Given the description of an element on the screen output the (x, y) to click on. 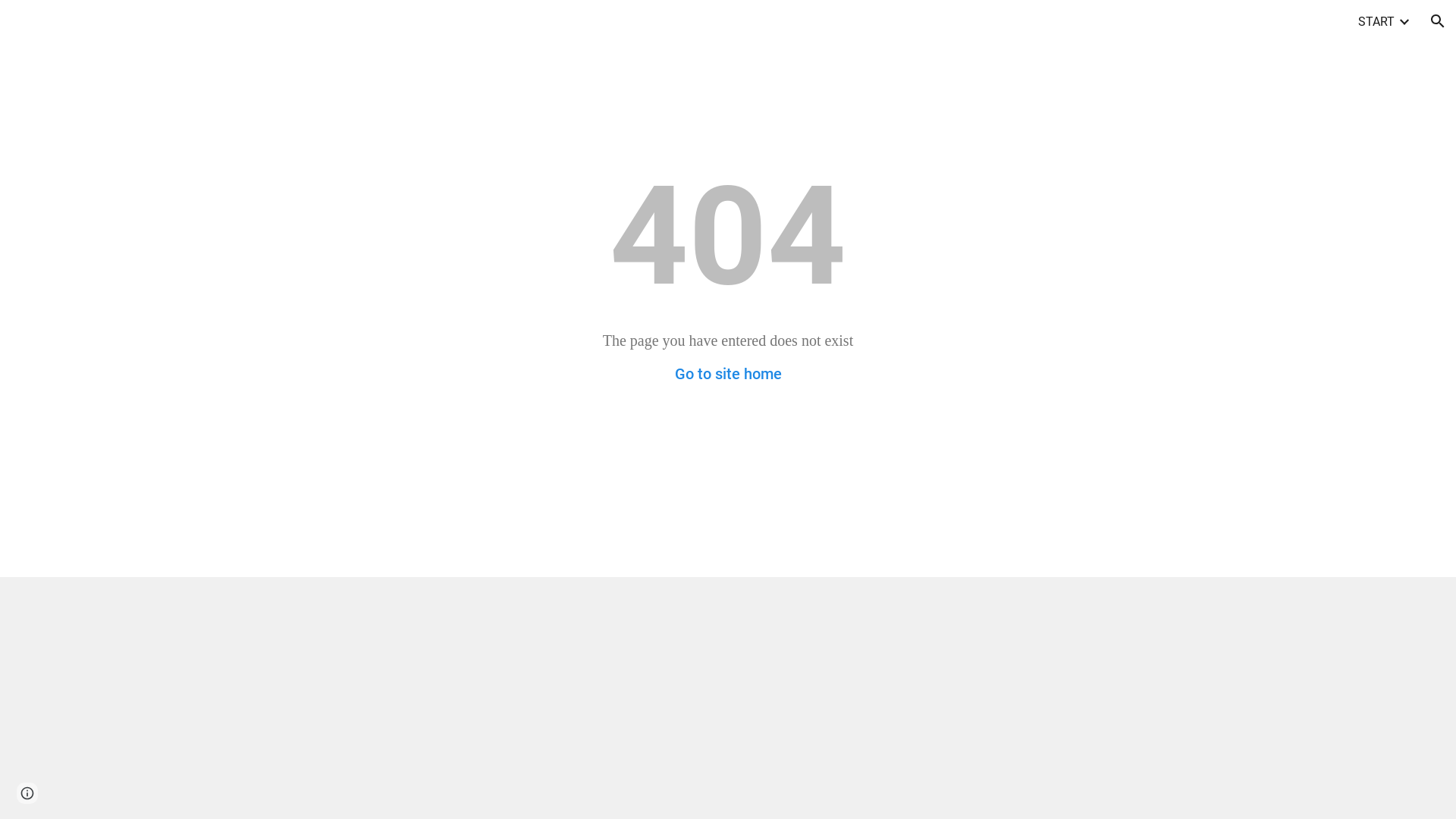
START Element type: text (1376, 20)
Go to site home Element type: text (727, 373)
Expand/Collapse Element type: hover (1403, 20)
